Given the description of an element on the screen output the (x, y) to click on. 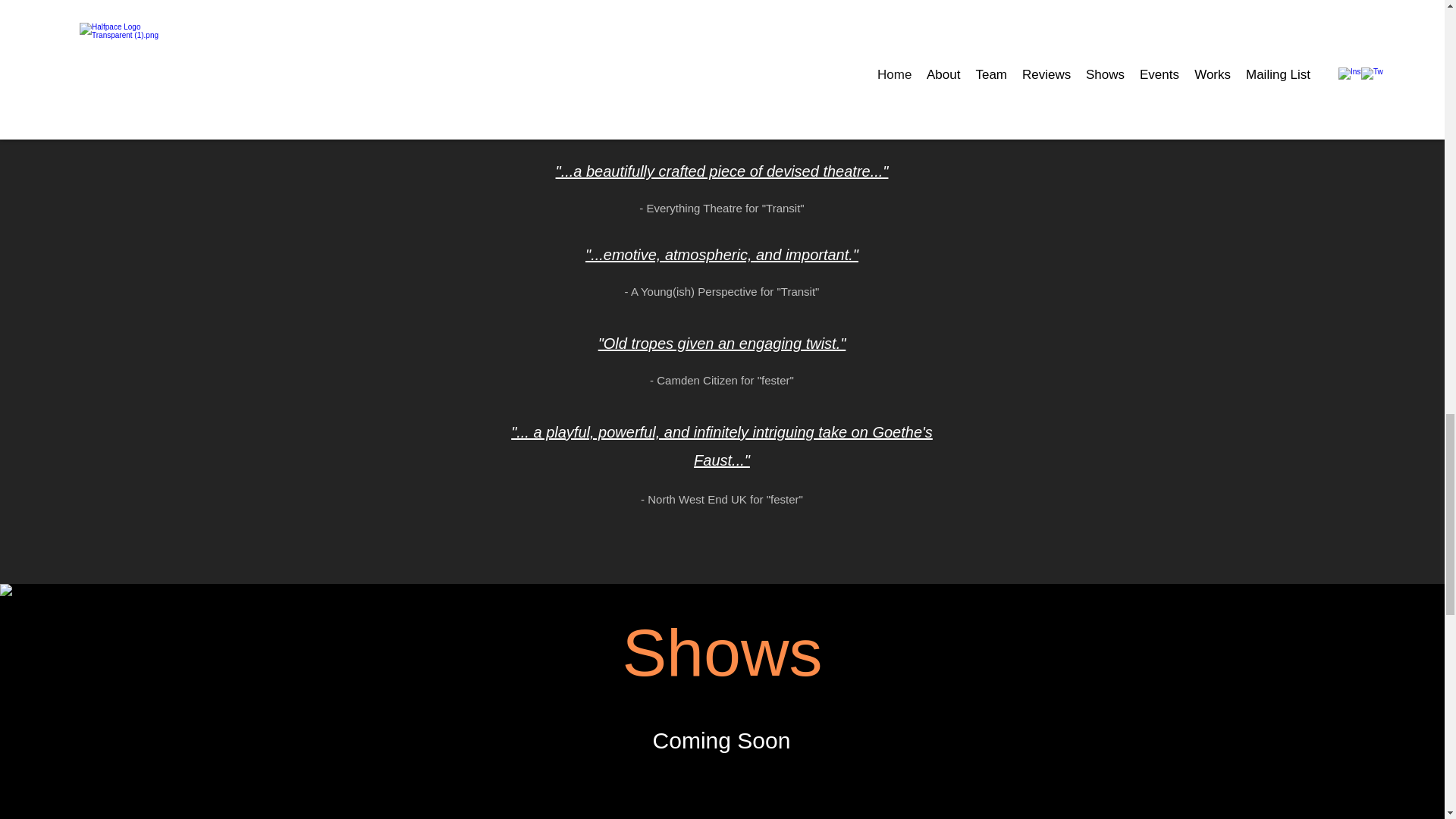
"...emotive, atmospheric, and important." (722, 254)
"...a beautifully crafted piece of devised theatre..." (722, 170)
"Old tropes given an engaging twist." (721, 343)
